Given the description of an element on the screen output the (x, y) to click on. 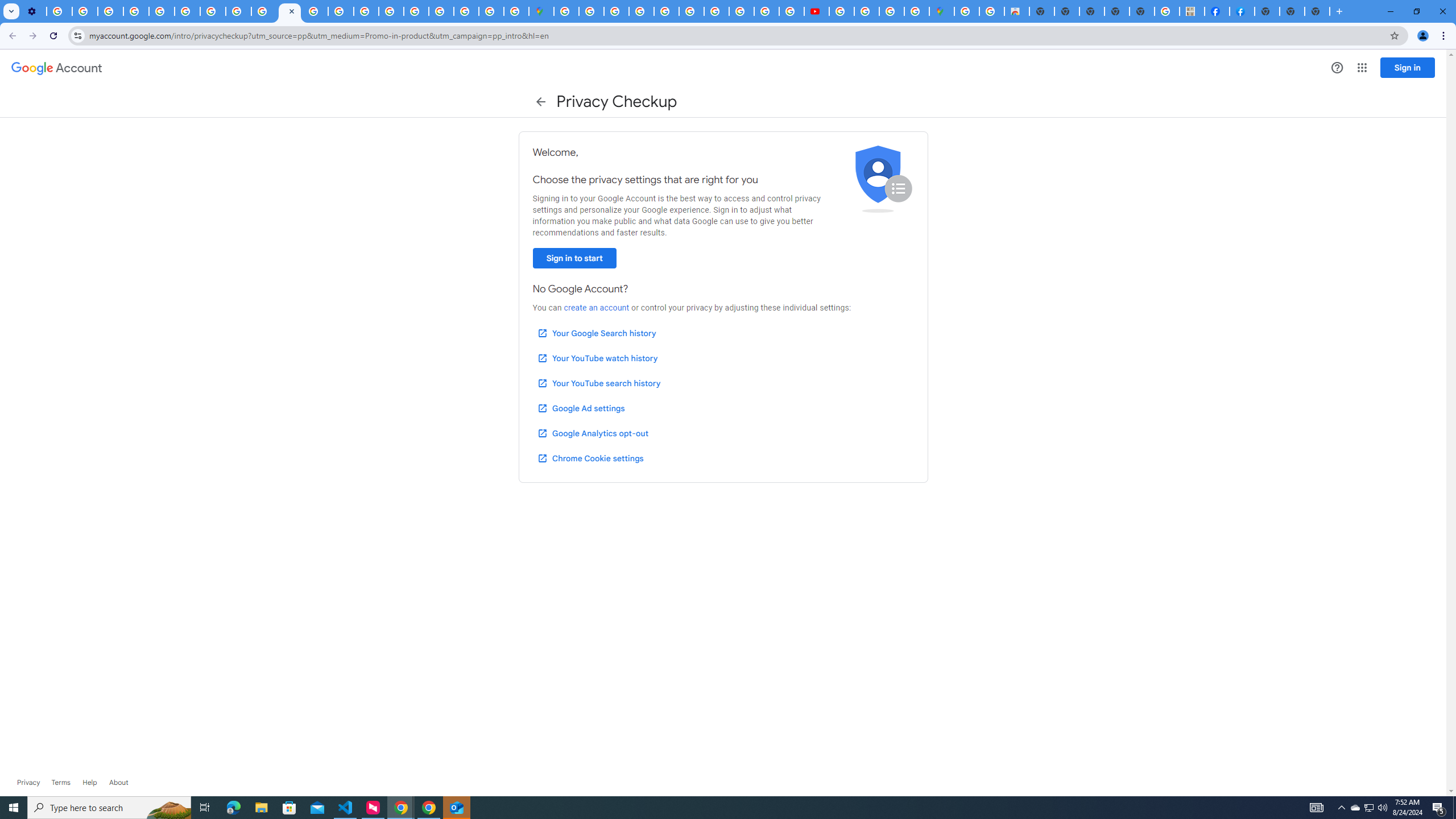
Terms and Conditions (666, 11)
Sign Up for Facebook (1241, 11)
Learn more about Google Account (118, 782)
Terms and Conditions (691, 11)
Sign in - Google Accounts (565, 11)
Subscriptions - YouTube (816, 11)
YouTube (186, 11)
Your YouTube watch history (597, 358)
Google Ad settings (580, 408)
